Given the description of an element on the screen output the (x, y) to click on. 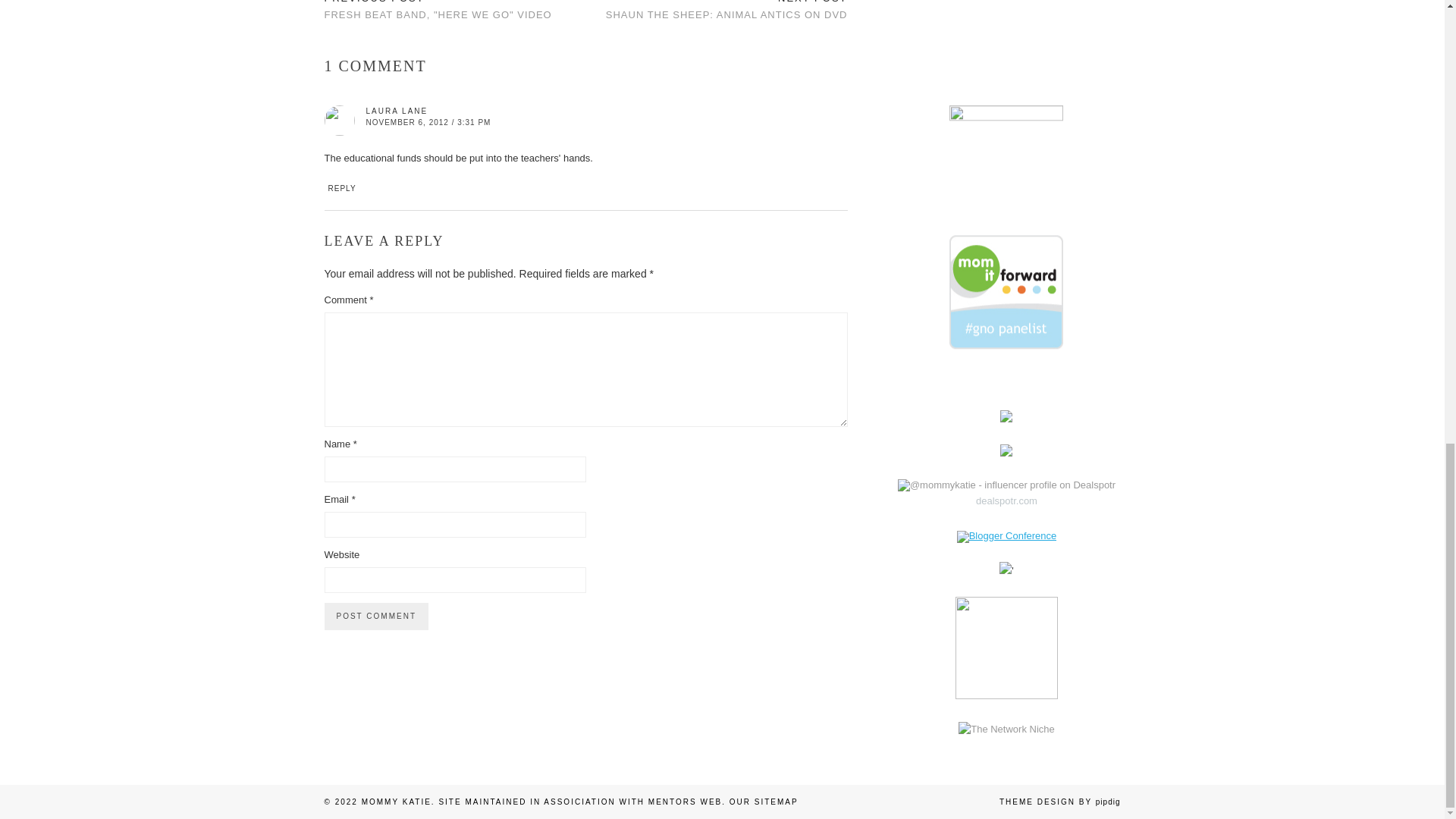
Post Comment (376, 615)
I blog with The Motherhood (1005, 330)
Post Comment (376, 615)
Blogger Conference (437, 17)
REPLY (1006, 535)
The Network Niche (726, 17)
